Given the description of an element on the screen output the (x, y) to click on. 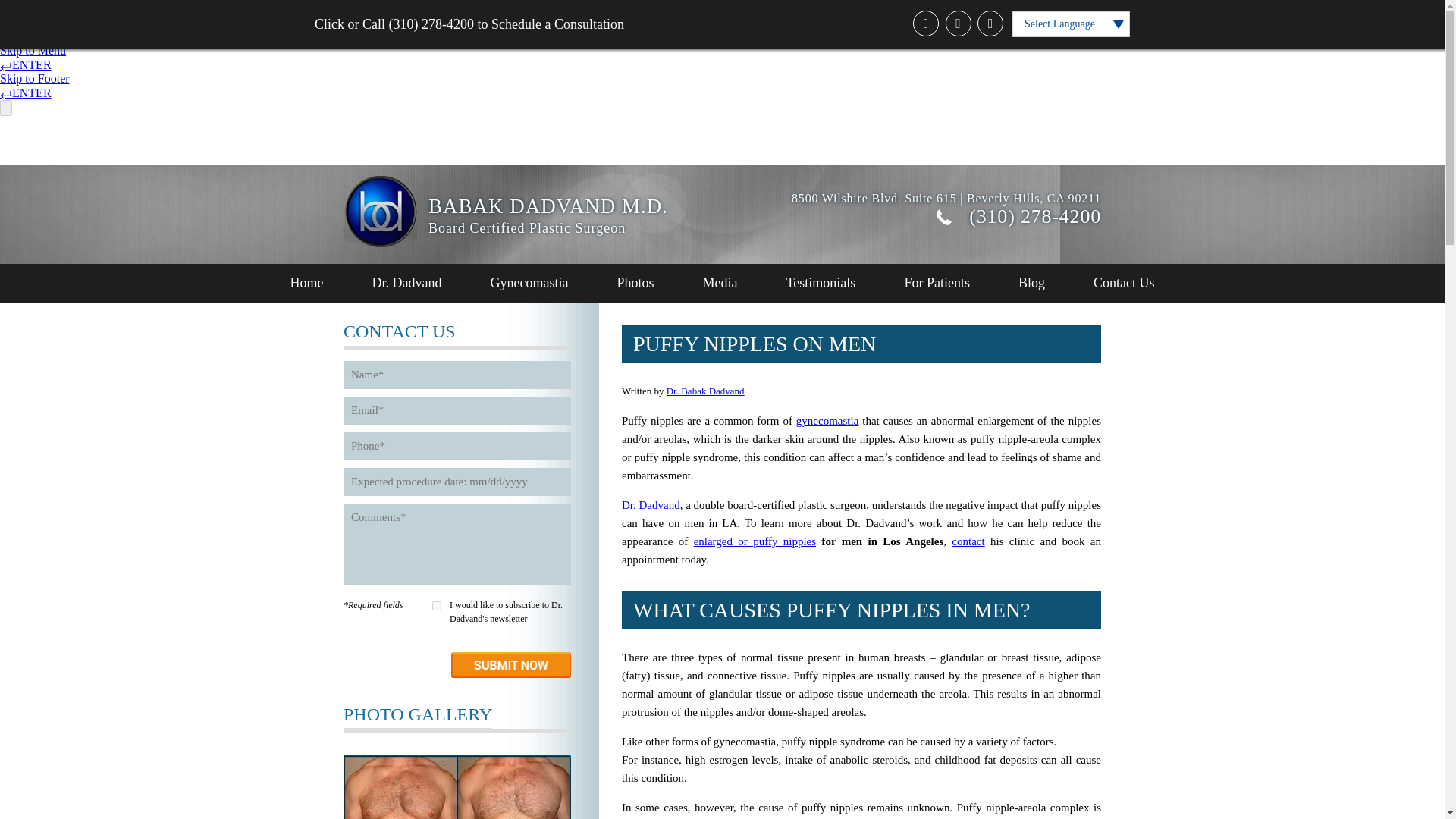
Gynecomastia (529, 282)
Dr. Dadvand (407, 282)
on (436, 605)
